Given the description of an element on the screen output the (x, y) to click on. 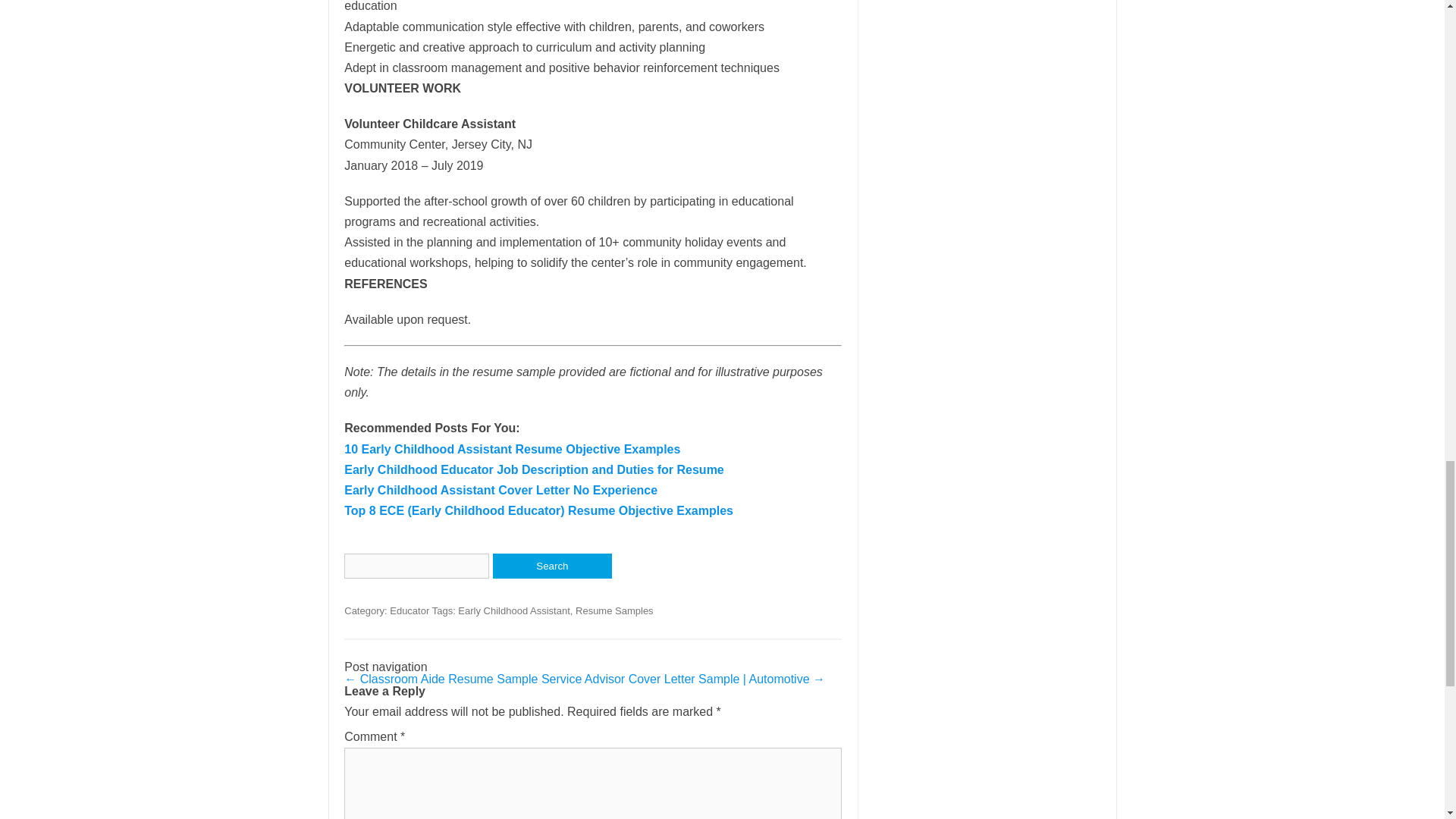
10 Early Childhood Assistant Resume Objective Examples (511, 449)
Search (552, 565)
Early Childhood Assistant (513, 610)
Early Childhood Assistant Cover Letter No Experience (500, 490)
Educator (409, 610)
Early Childhood Assistant Cover Letter No Experience (500, 490)
Search (552, 565)
10 Early Childhood Assistant Resume Objective Examples (511, 449)
Resume Samples (614, 610)
